Given the description of an element on the screen output the (x, y) to click on. 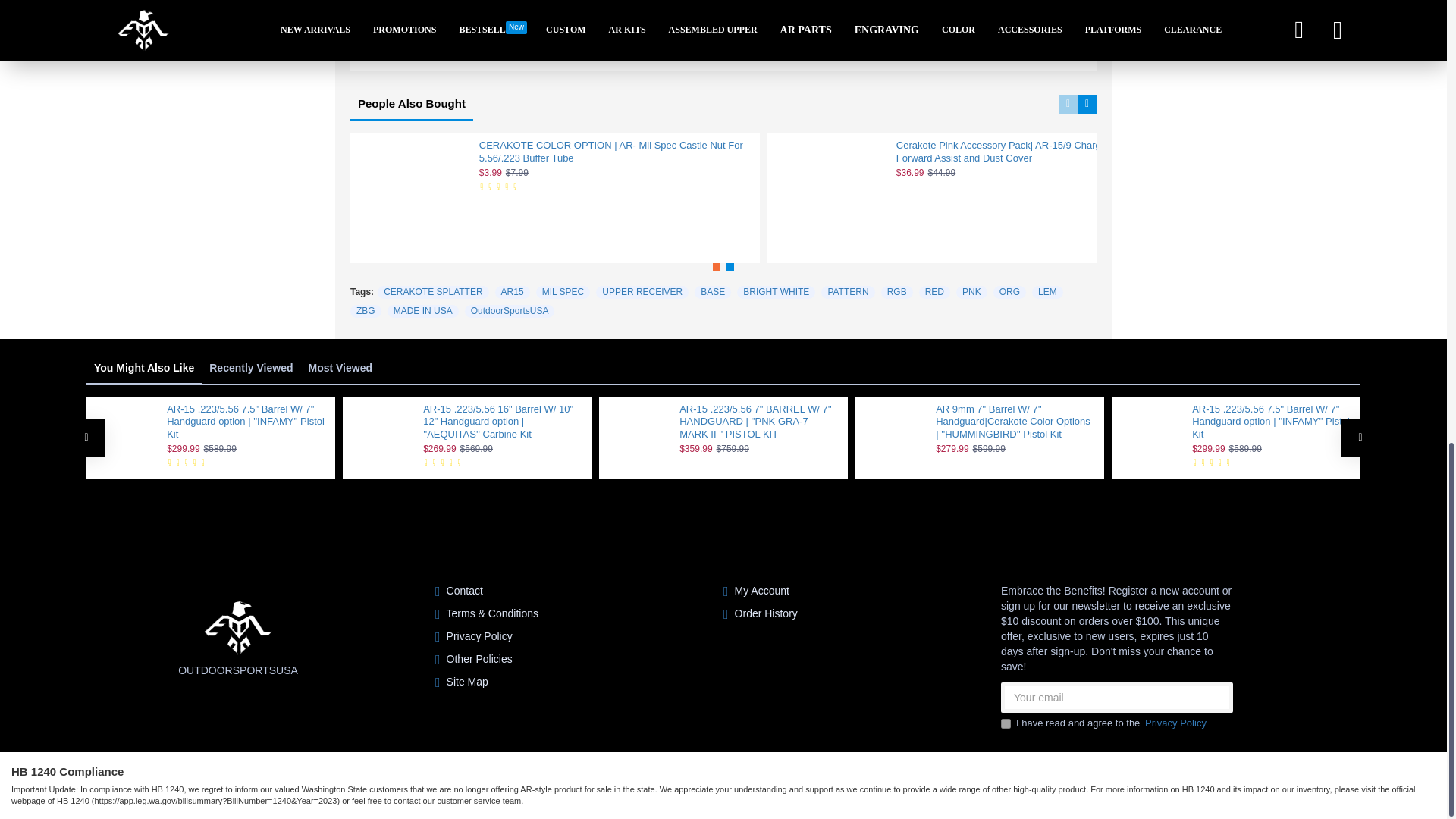
1 (1005, 723)
